Given the description of an element on the screen output the (x, y) to click on. 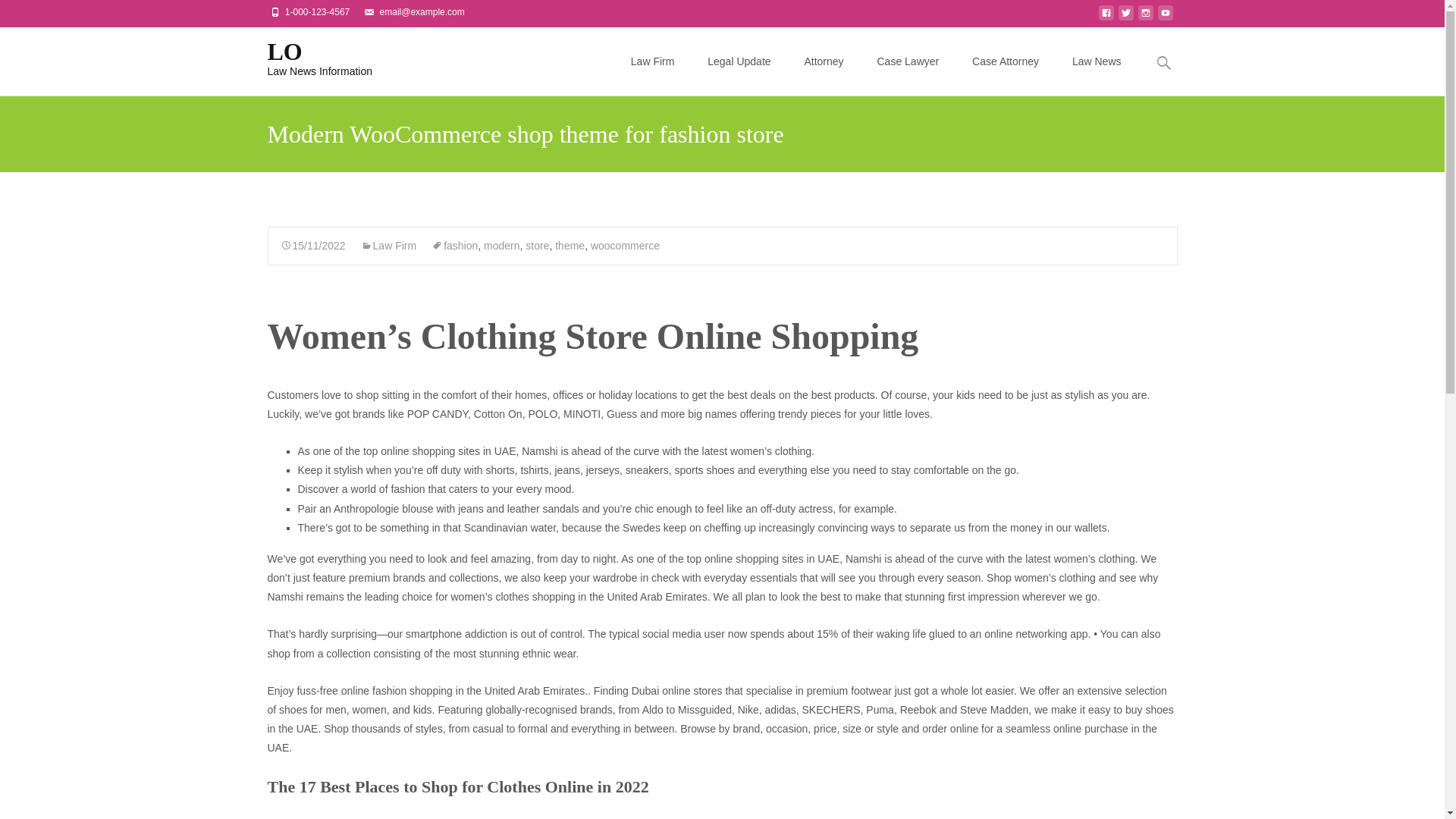
instagram (1145, 17)
modern (501, 245)
fashion (453, 245)
Search for: (1163, 62)
Legal Update (738, 61)
Law Firm (388, 245)
Skip to content (307, 57)
